Given the description of an element on the screen output the (x, y) to click on. 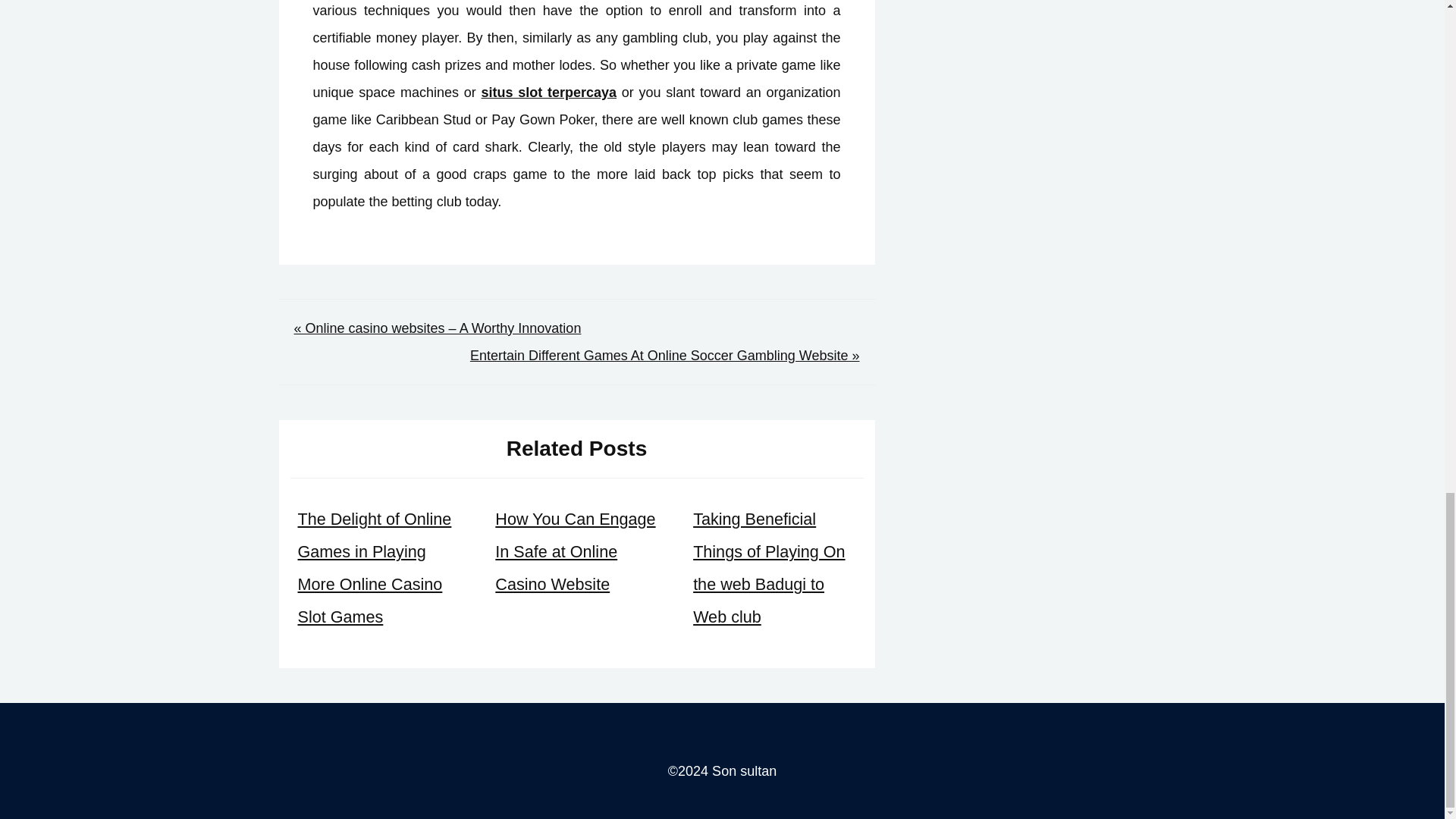
How You Can Engage In Safe at Online Casino Website (575, 551)
situs slot terpercaya (547, 92)
